Given the description of an element on the screen output the (x, y) to click on. 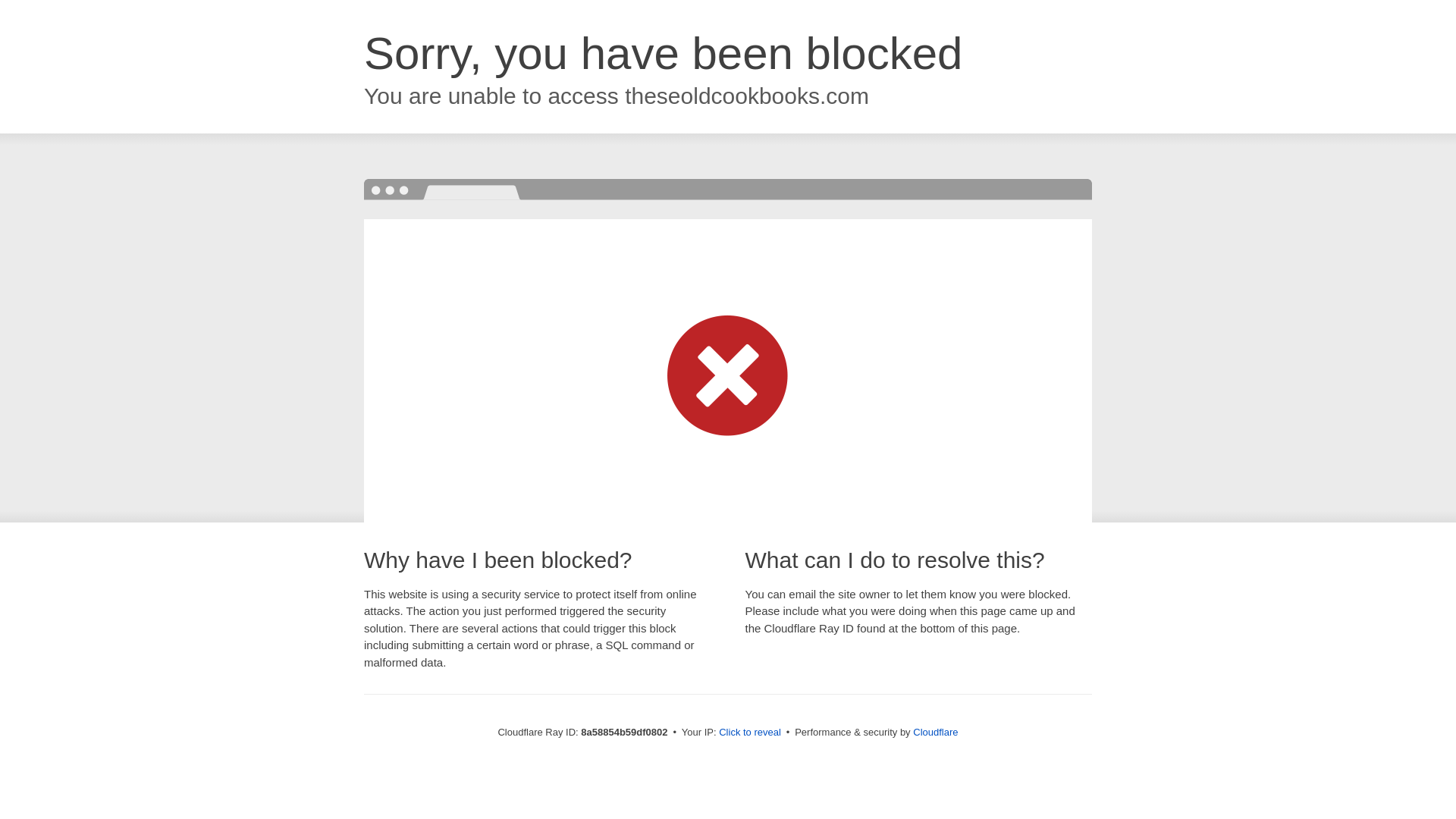
Cloudflare (935, 731)
Click to reveal (749, 732)
